Given the description of an element on the screen output the (x, y) to click on. 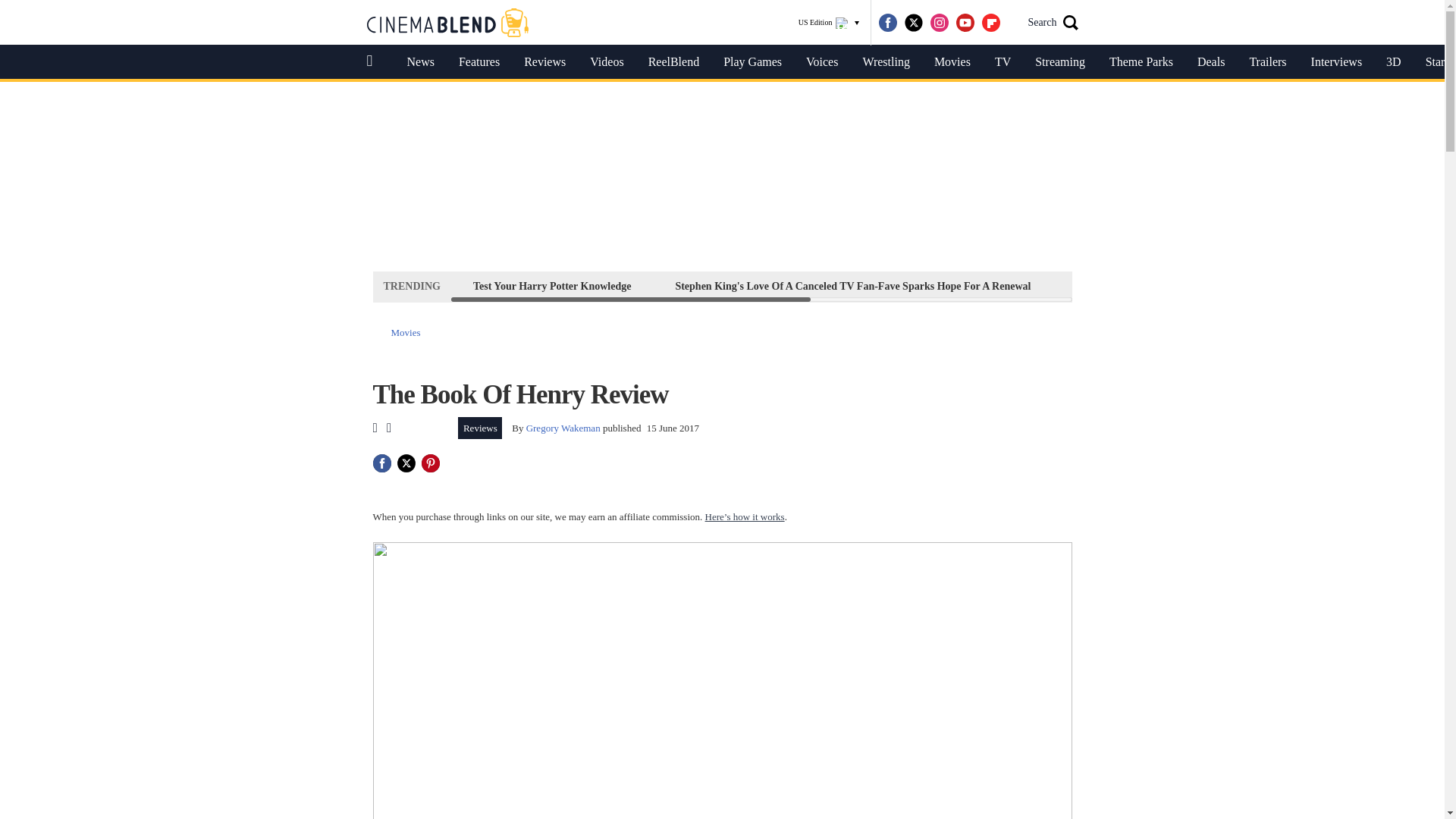
ReelBlend (673, 61)
Trailers (1267, 61)
2024 Upcoming Movies (1126, 286)
Theme Parks (1141, 61)
Features (479, 61)
Reviews (545, 61)
Movies (405, 332)
Interviews (1336, 61)
Streaming (1060, 61)
TV (1002, 61)
